Given the description of an element on the screen output the (x, y) to click on. 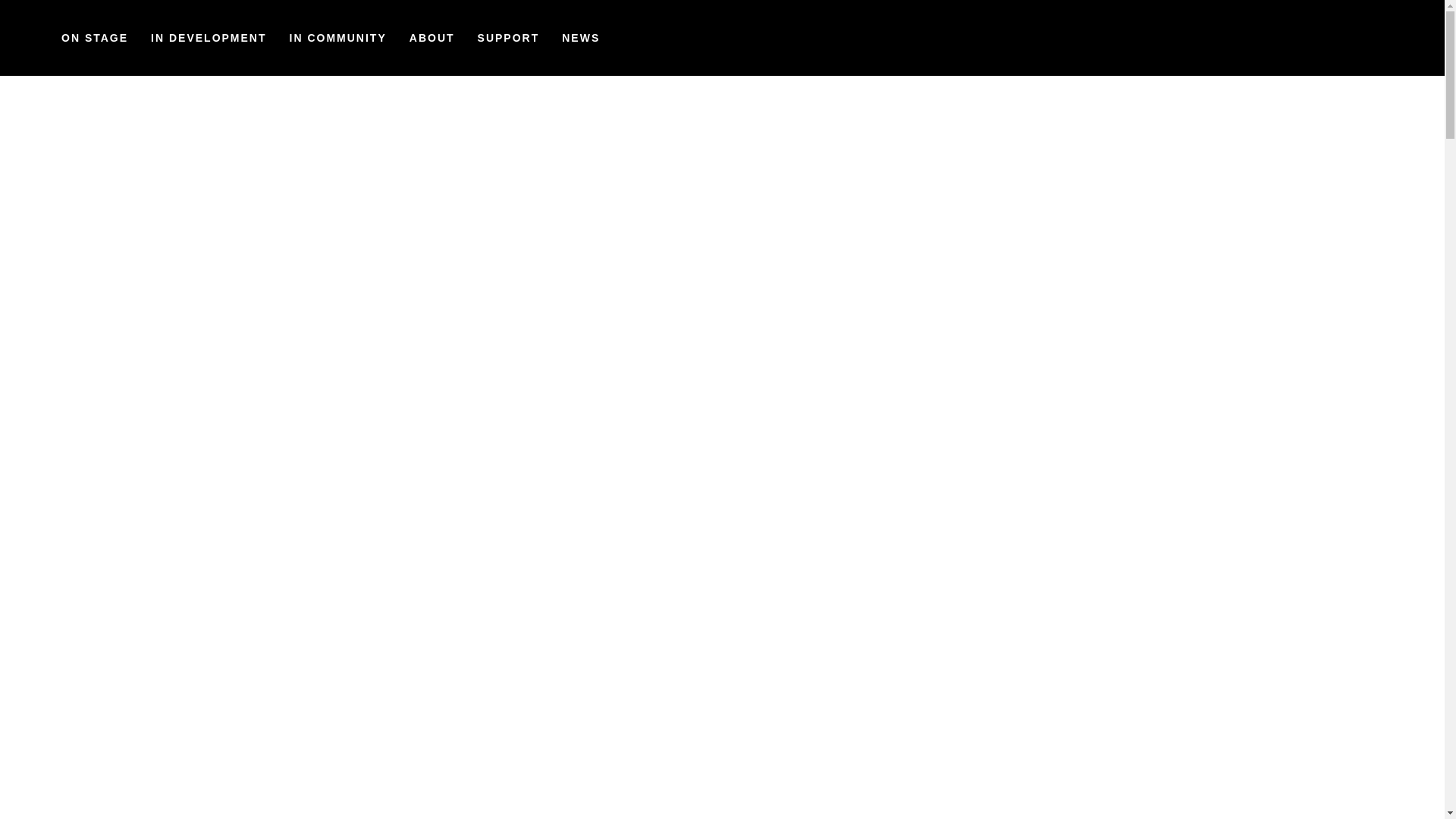
IN DEVELOPMENT (208, 38)
ABOUT (431, 38)
IN COMMUNITY (337, 38)
ON STAGE (94, 38)
SUPPORT (508, 38)
